Given the description of an element on the screen output the (x, y) to click on. 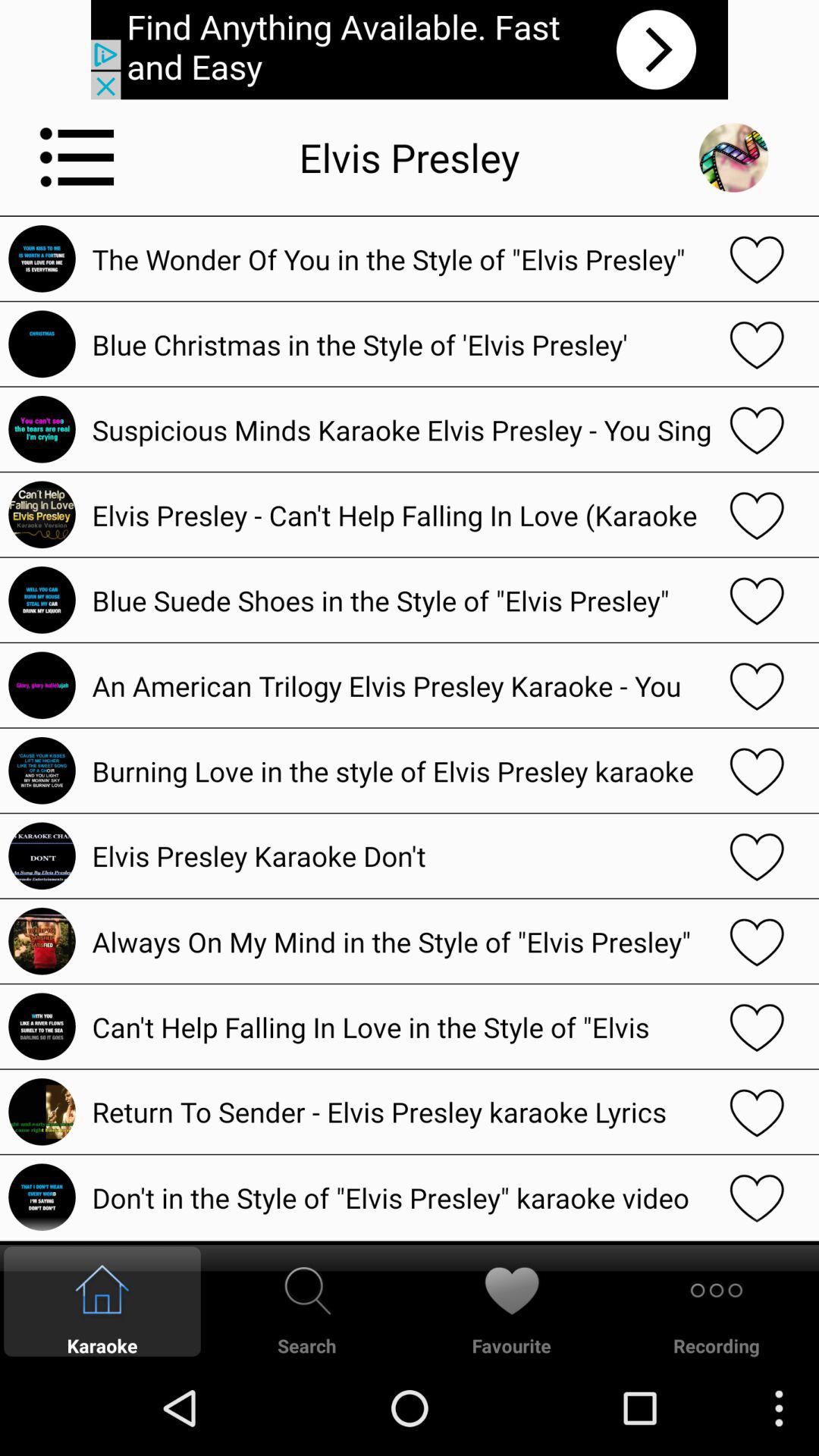
favorite song (756, 429)
